Given the description of an element on the screen output the (x, y) to click on. 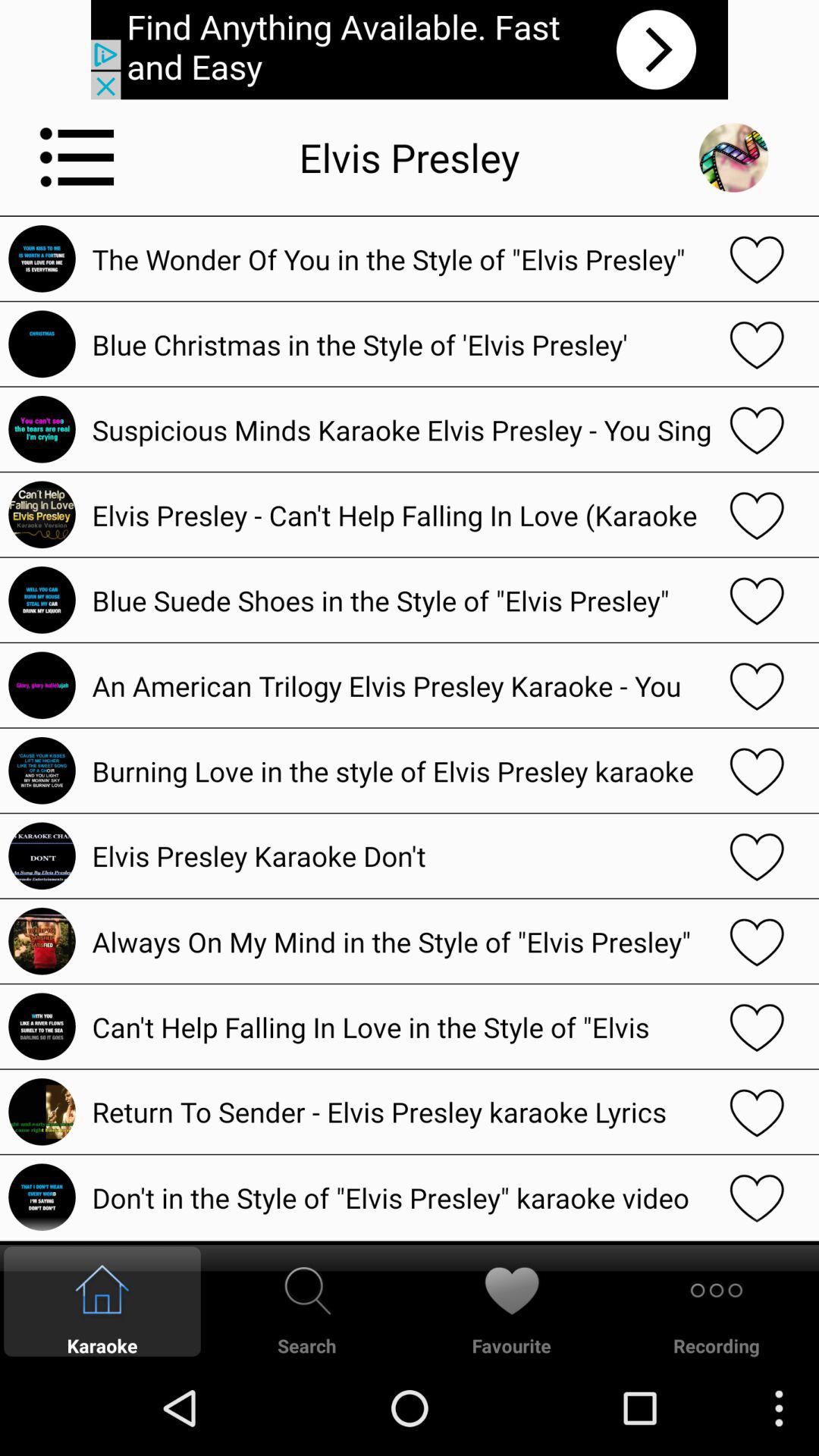
favorite song (756, 429)
